Given the description of an element on the screen output the (x, y) to click on. 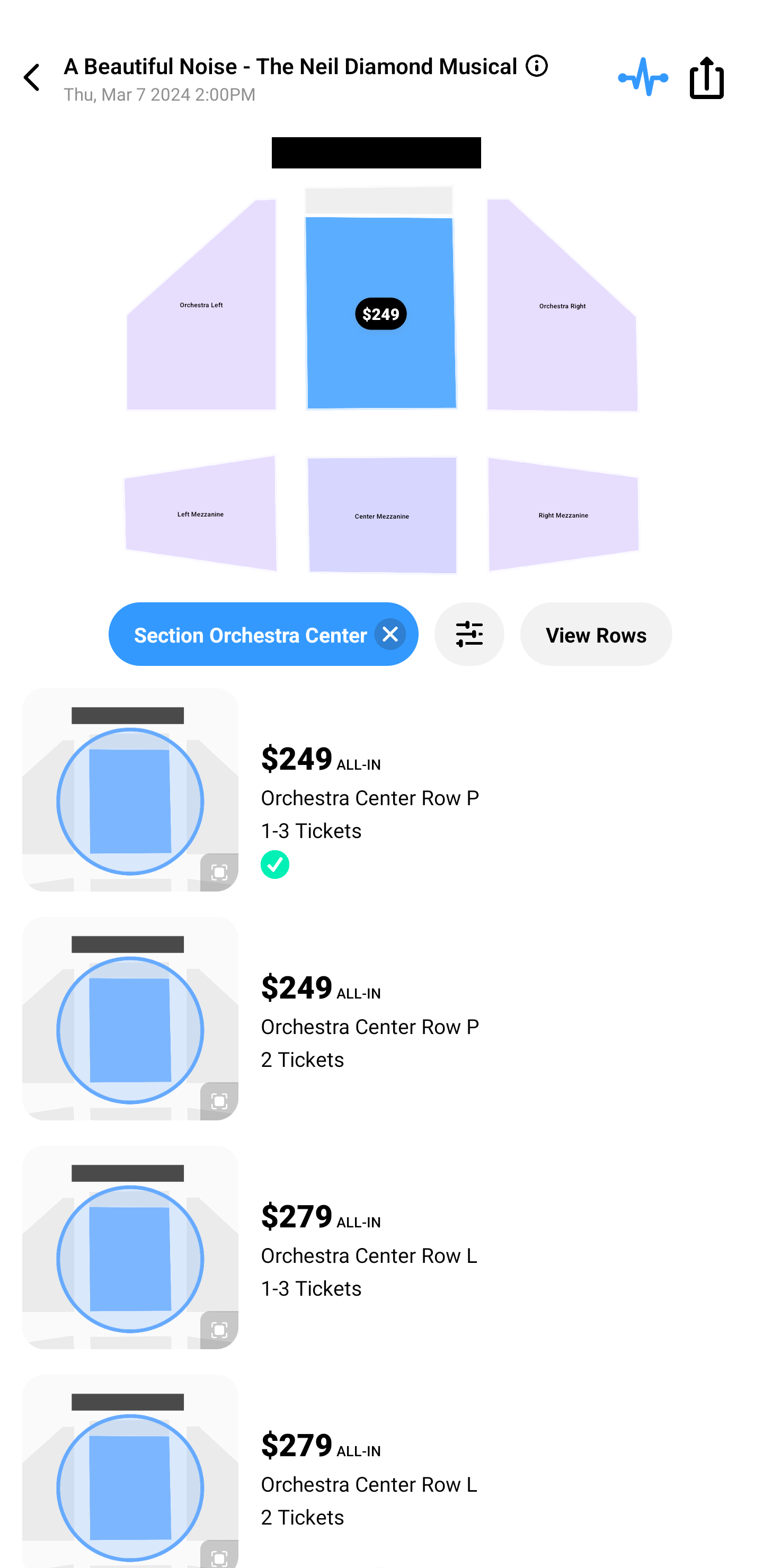
$249 (380, 313)
Section Orchestra Center (263, 634)
View Rows (596, 634)
